Given the description of an element on the screen output the (x, y) to click on. 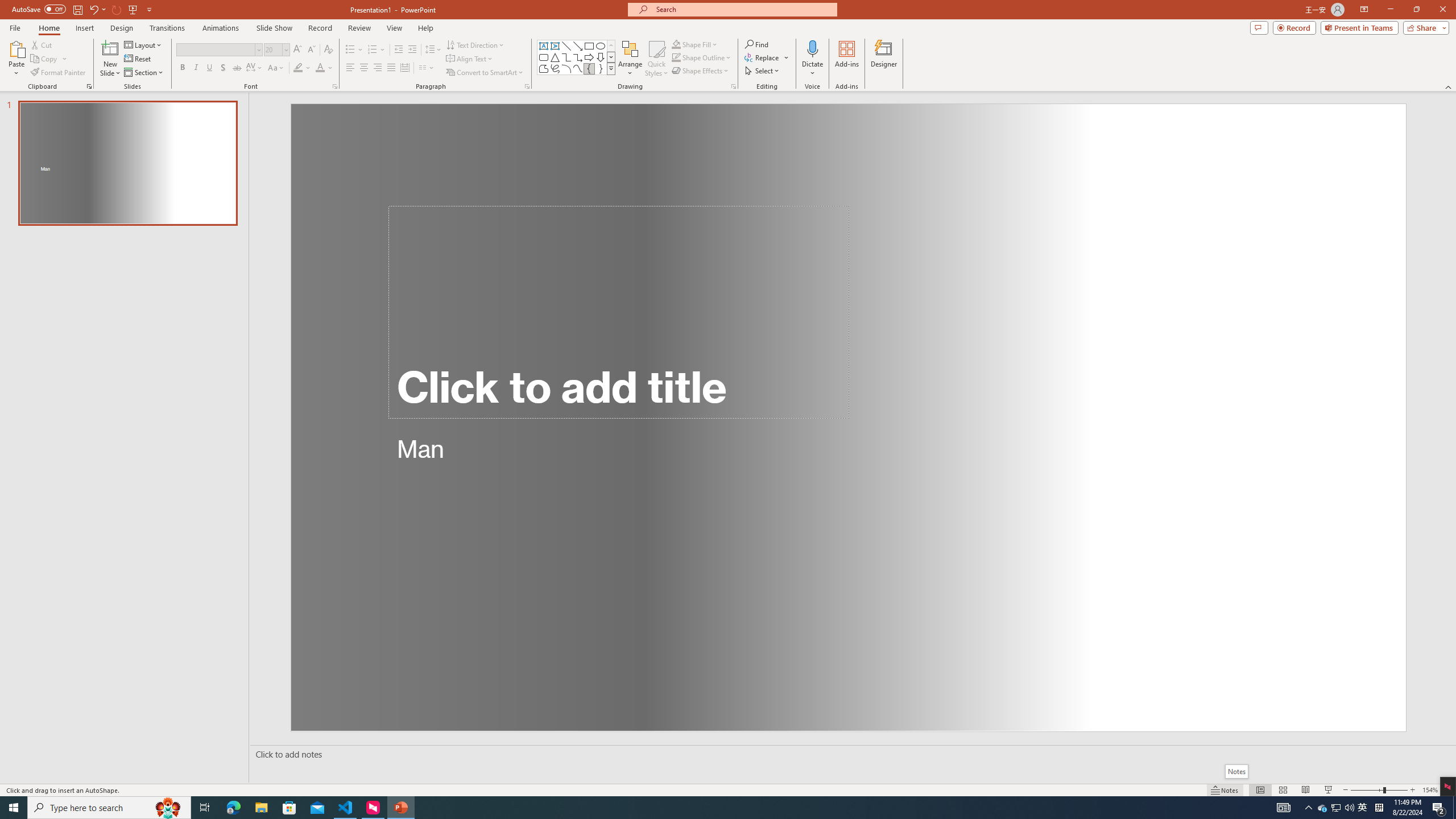
Left Brace (589, 68)
Convert to SmartArt (485, 72)
Text Highlight Color (302, 67)
Center (363, 67)
Right Brace (600, 68)
Increase Indent (412, 49)
Copy (45, 58)
Justify (390, 67)
Find... (756, 44)
Decrease Indent (398, 49)
